Given the description of an element on the screen output the (x, y) to click on. 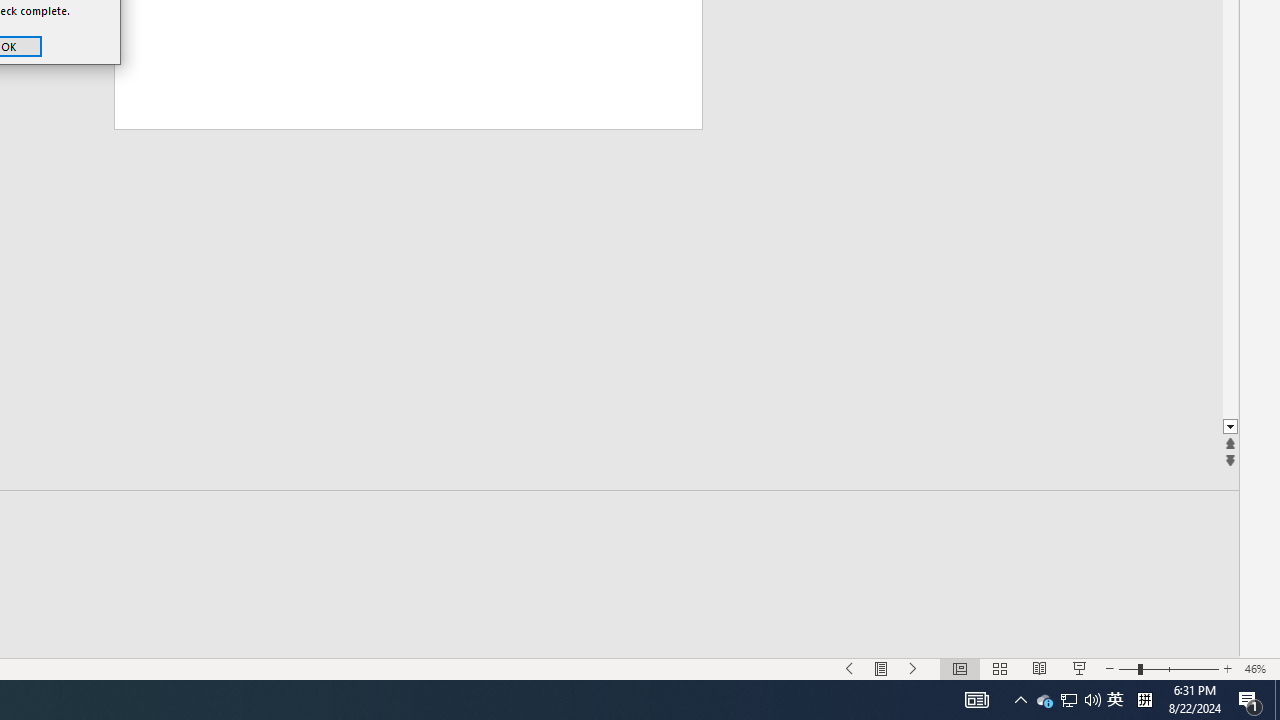
Slide Sorter (1000, 668)
Slide Show Next On (914, 668)
Q2790: 100% (1092, 699)
Slide Show Previous On (850, 668)
Zoom 46% (1258, 668)
Zoom Out (1115, 699)
